Given the description of an element on the screen output the (x, y) to click on. 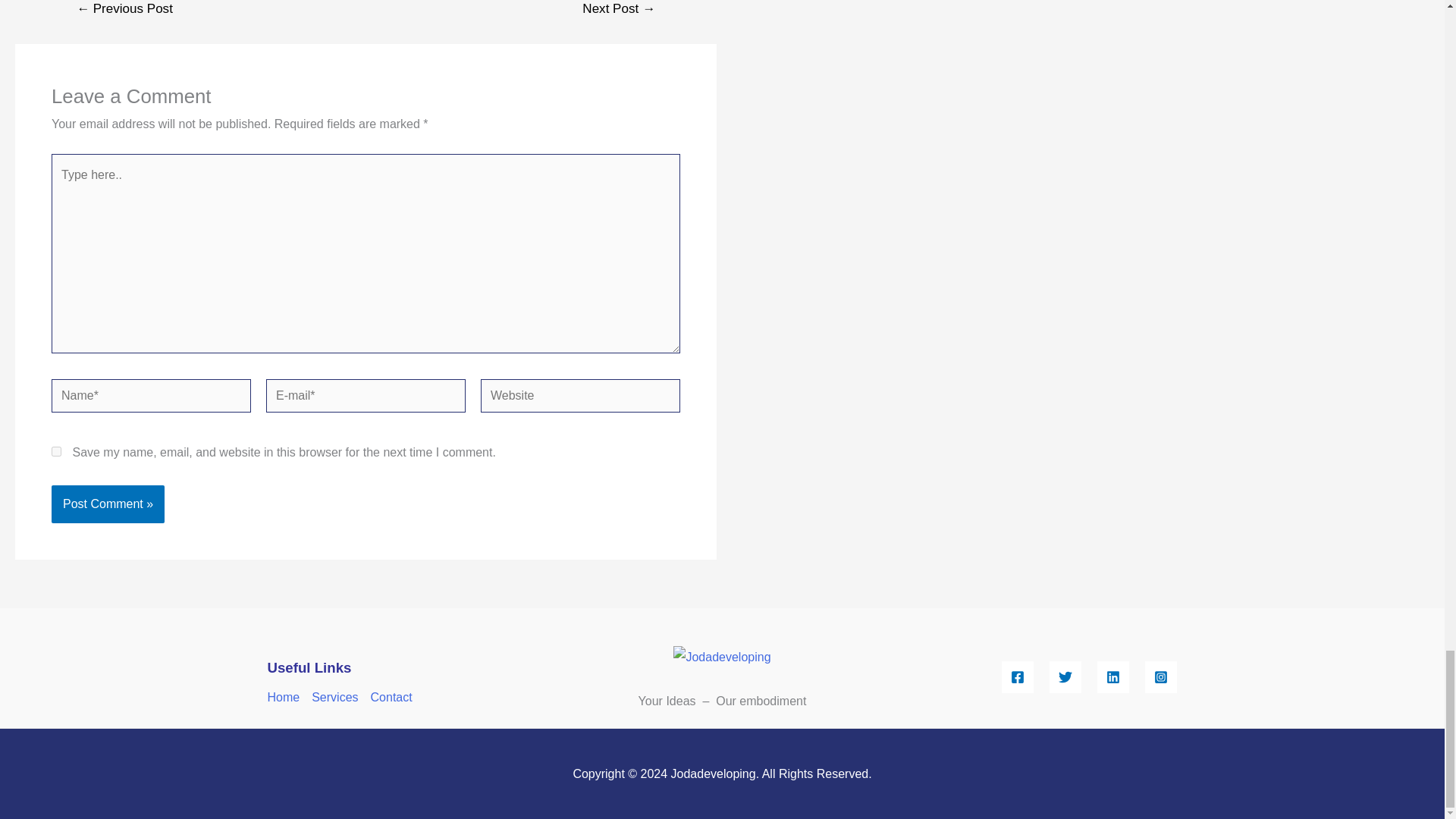
yes (55, 451)
